Given the description of an element on the screen output the (x, y) to click on. 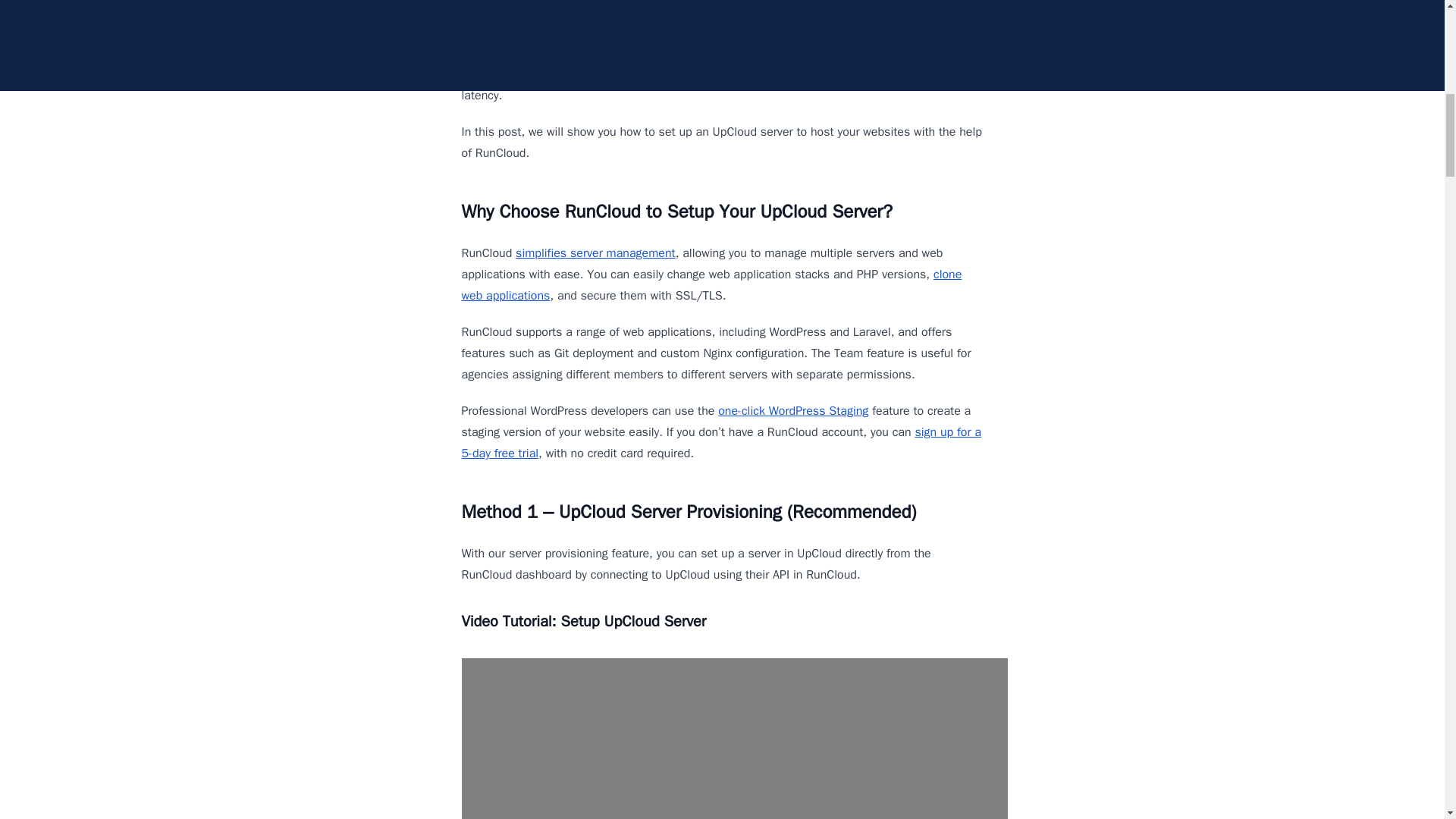
one-click WordPress Staging (792, 410)
simplifies server management (595, 253)
clone web applications (710, 284)
sign up for a 5-day free trial (720, 443)
